Given the description of an element on the screen output the (x, y) to click on. 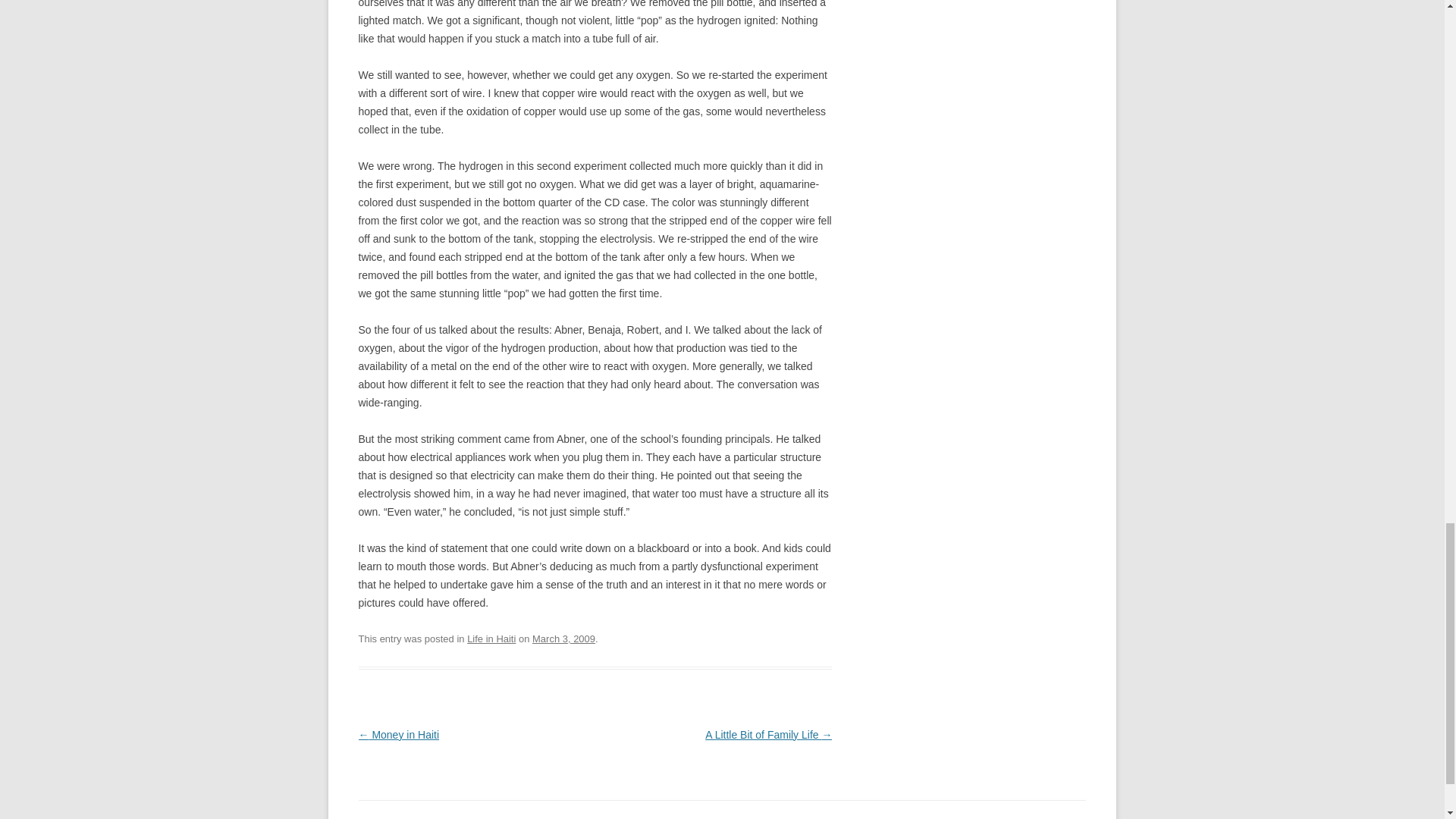
March 3, 2009 (563, 638)
1:14 am (563, 638)
Life in Haiti (491, 638)
